Given the description of an element on the screen output the (x, y) to click on. 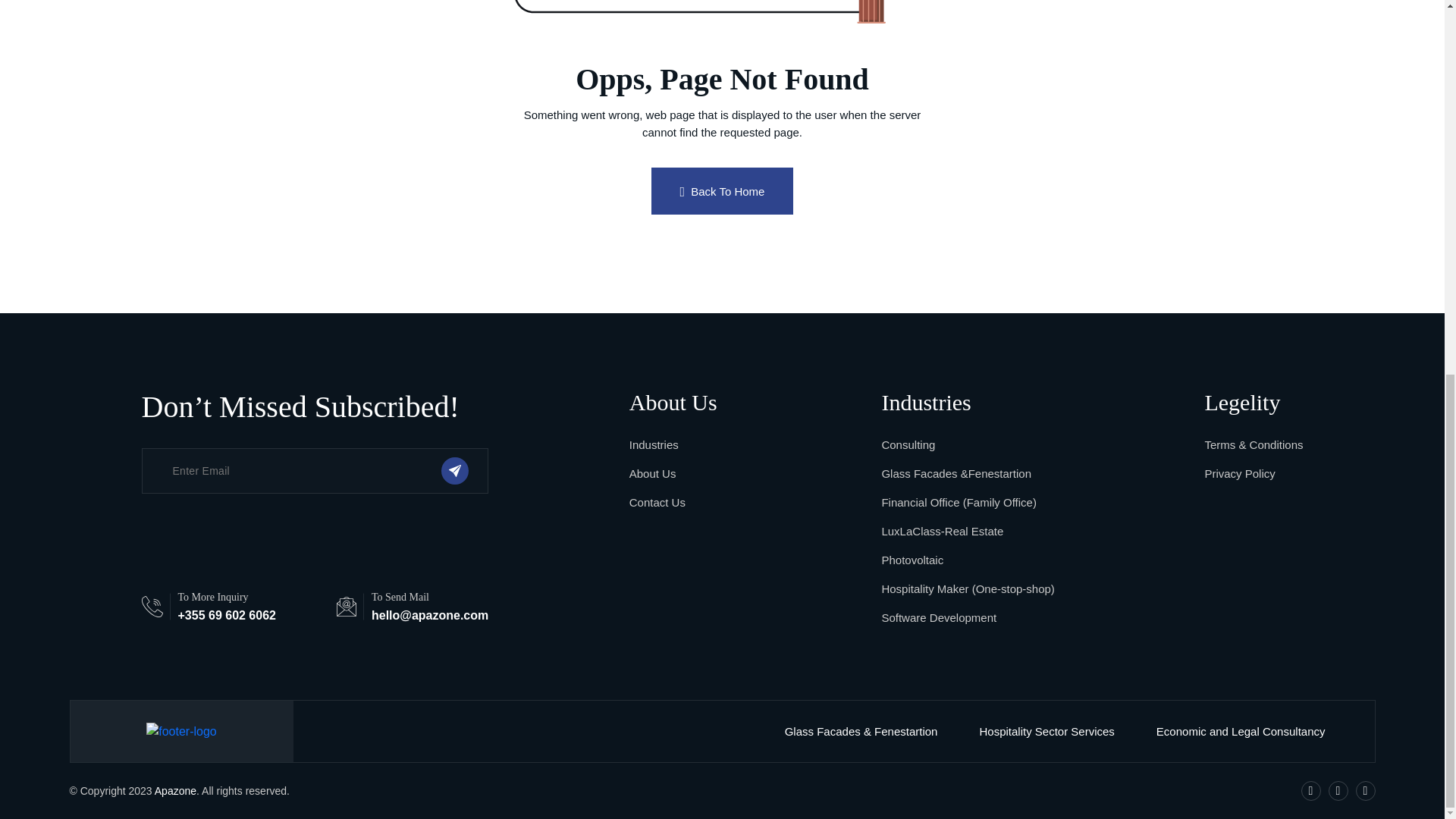
About Us (652, 472)
Consulting (907, 444)
Software Development (937, 617)
Photovoltaic (911, 559)
Industries (653, 444)
Contact Us (656, 502)
Back To Home (721, 190)
LuxLaClass-Real Estate (941, 530)
